Given the description of an element on the screen output the (x, y) to click on. 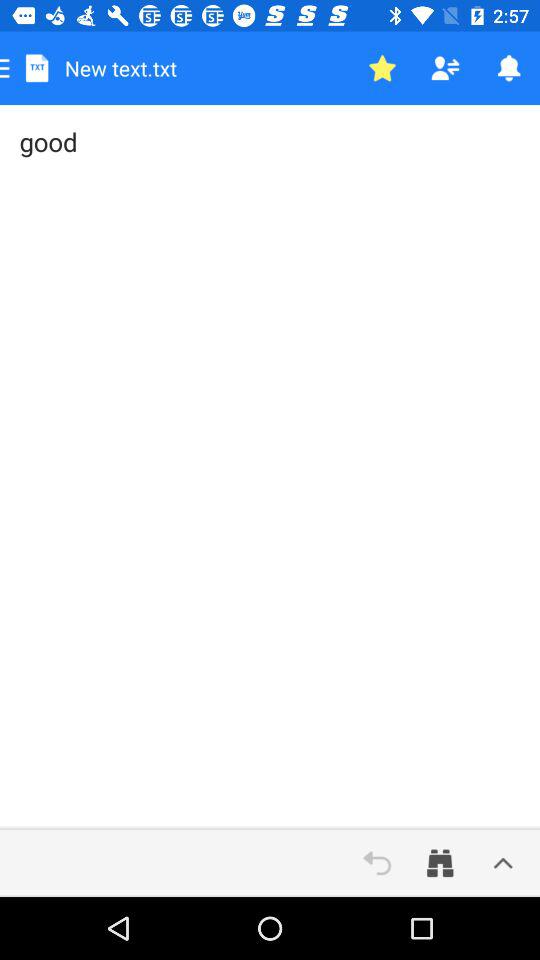
turn on the item above the good (508, 68)
